Given the description of an element on the screen output the (x, y) to click on. 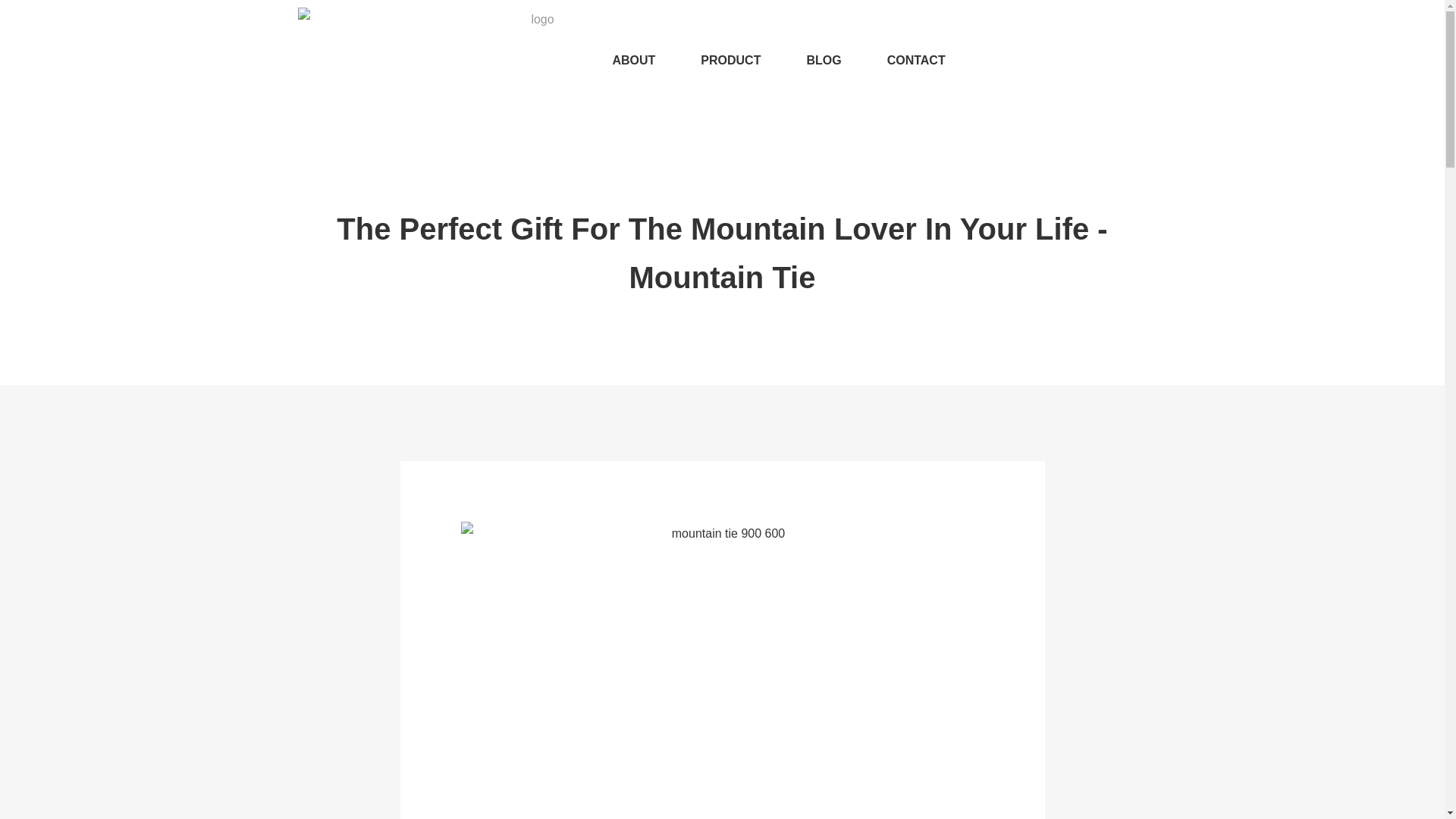
PRODUCT (730, 60)
ABOUT (632, 60)
CONTACT (916, 60)
BLOG (823, 60)
